Given the description of an element on the screen output the (x, y) to click on. 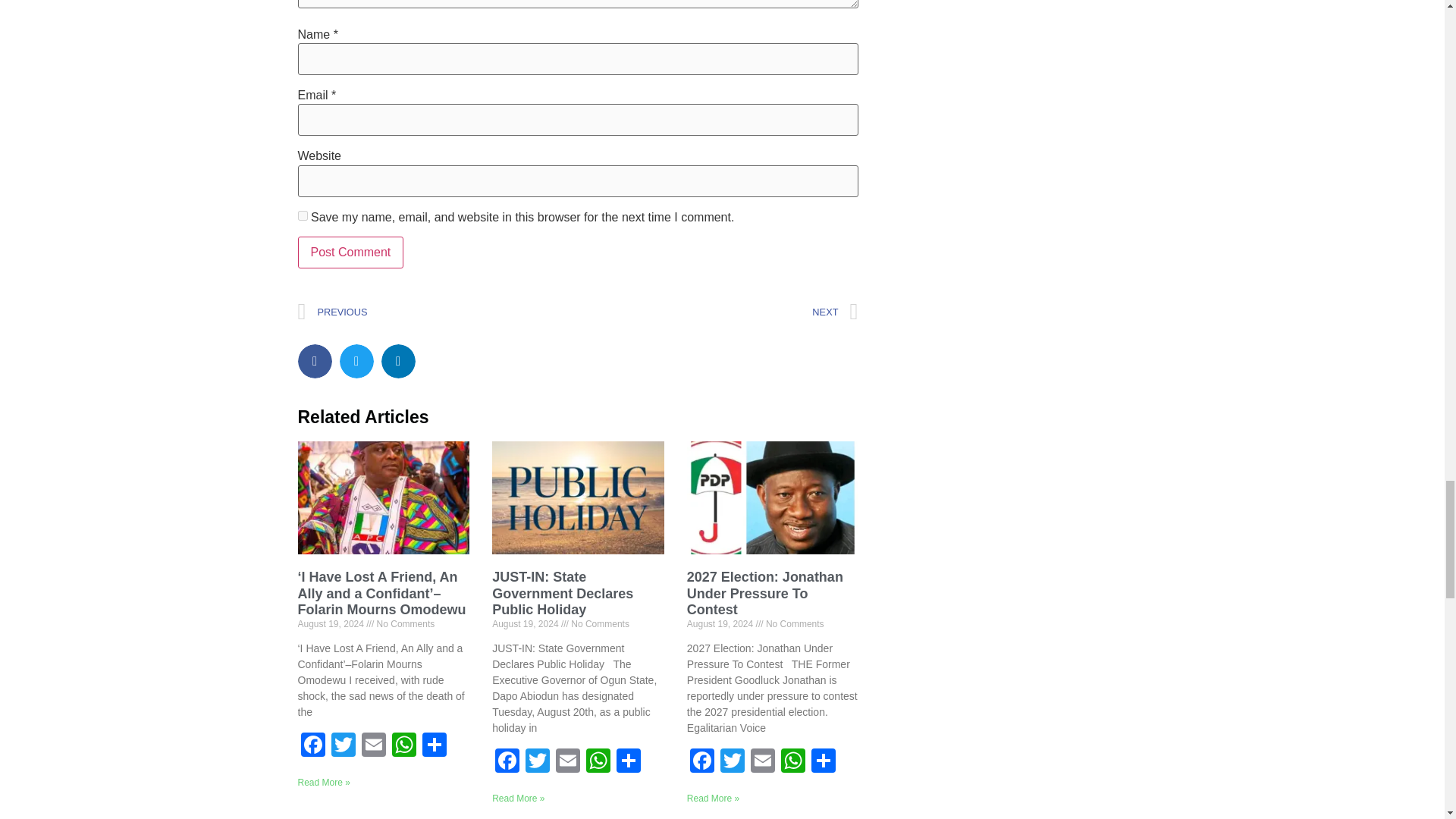
NEXT (717, 311)
Email (373, 746)
Facebook (312, 746)
PREVIOUS (436, 311)
Twitter (342, 746)
WhatsApp (403, 746)
Twitter (342, 746)
Facebook (312, 746)
Post Comment (350, 252)
Email (373, 746)
